Given the description of an element on the screen output the (x, y) to click on. 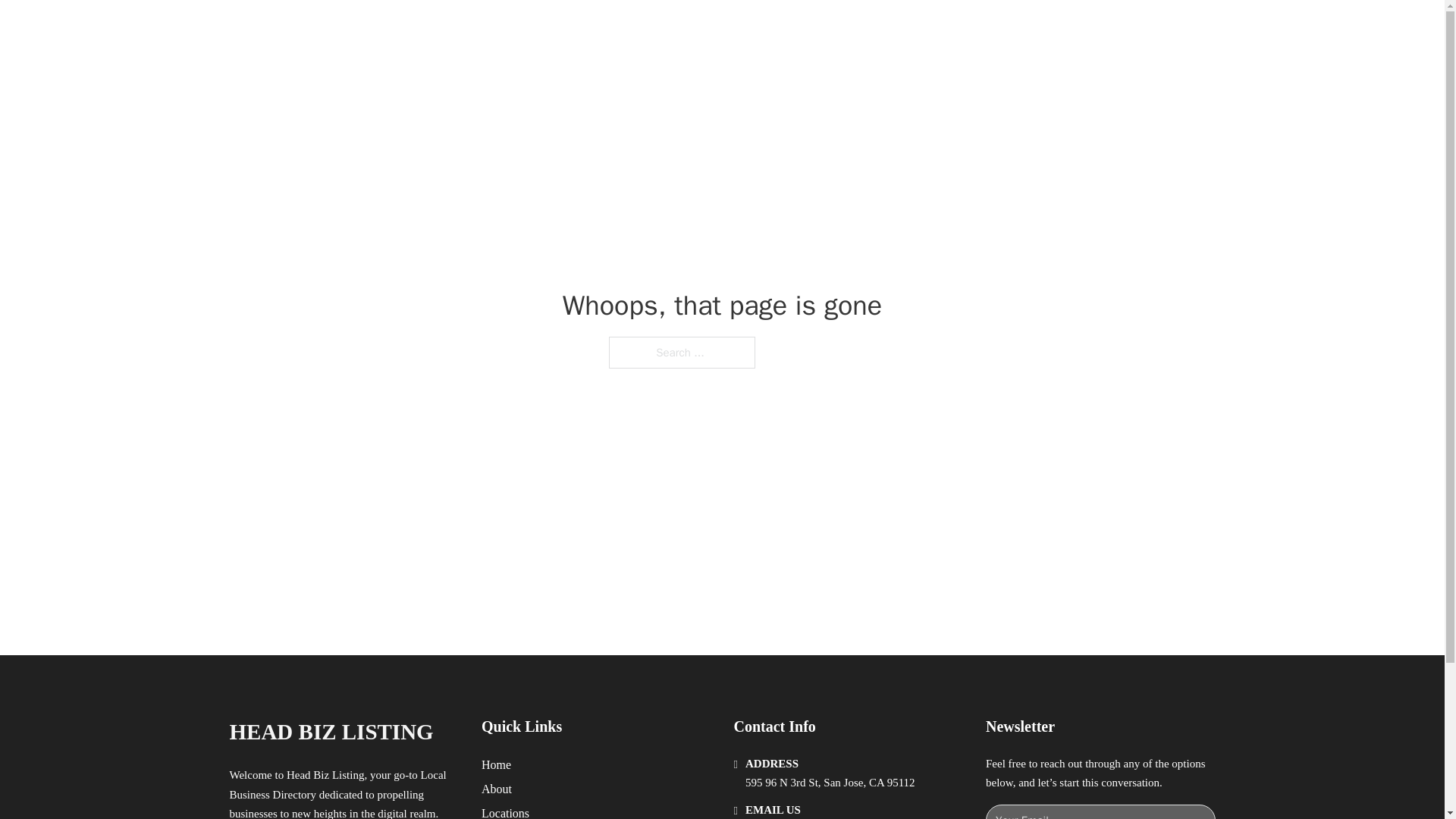
About (496, 788)
HEAD BIZ LISTING (330, 732)
Locations (505, 811)
HEAD BIZ LISTING (400, 28)
Home (496, 764)
